Given the description of an element on the screen output the (x, y) to click on. 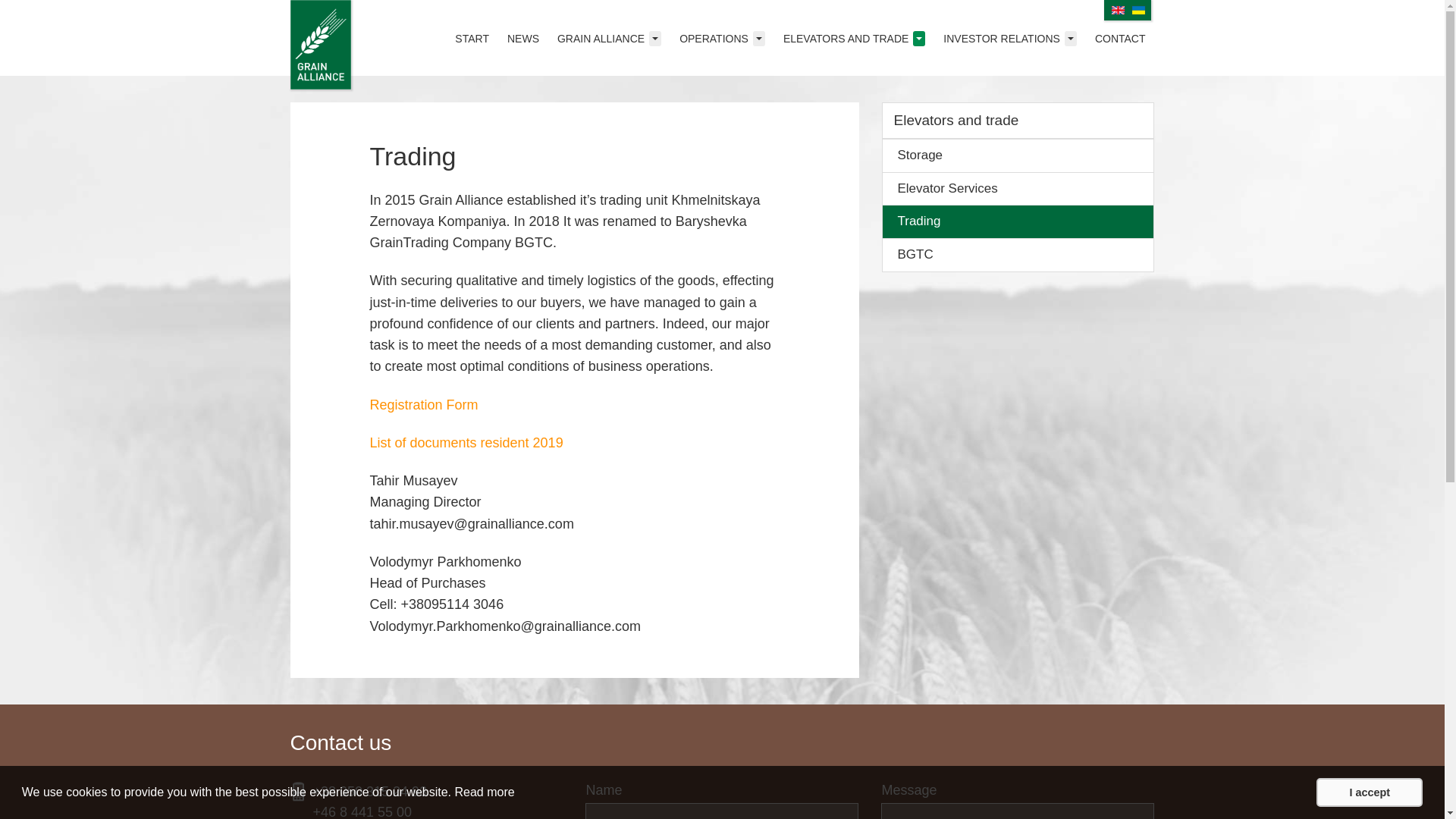
Elevators and trade (1017, 120)
START (471, 38)
NEWS (522, 38)
OPERATIONS (721, 38)
CONTACT (1120, 38)
Registration Form (423, 404)
List of documents resident 2019 (465, 442)
GRAIN ALLIANCE (608, 38)
INVESTOR RELATIONS (1010, 38)
ELEVATORS AND TRADE (854, 38)
